Given the description of an element on the screen output the (x, y) to click on. 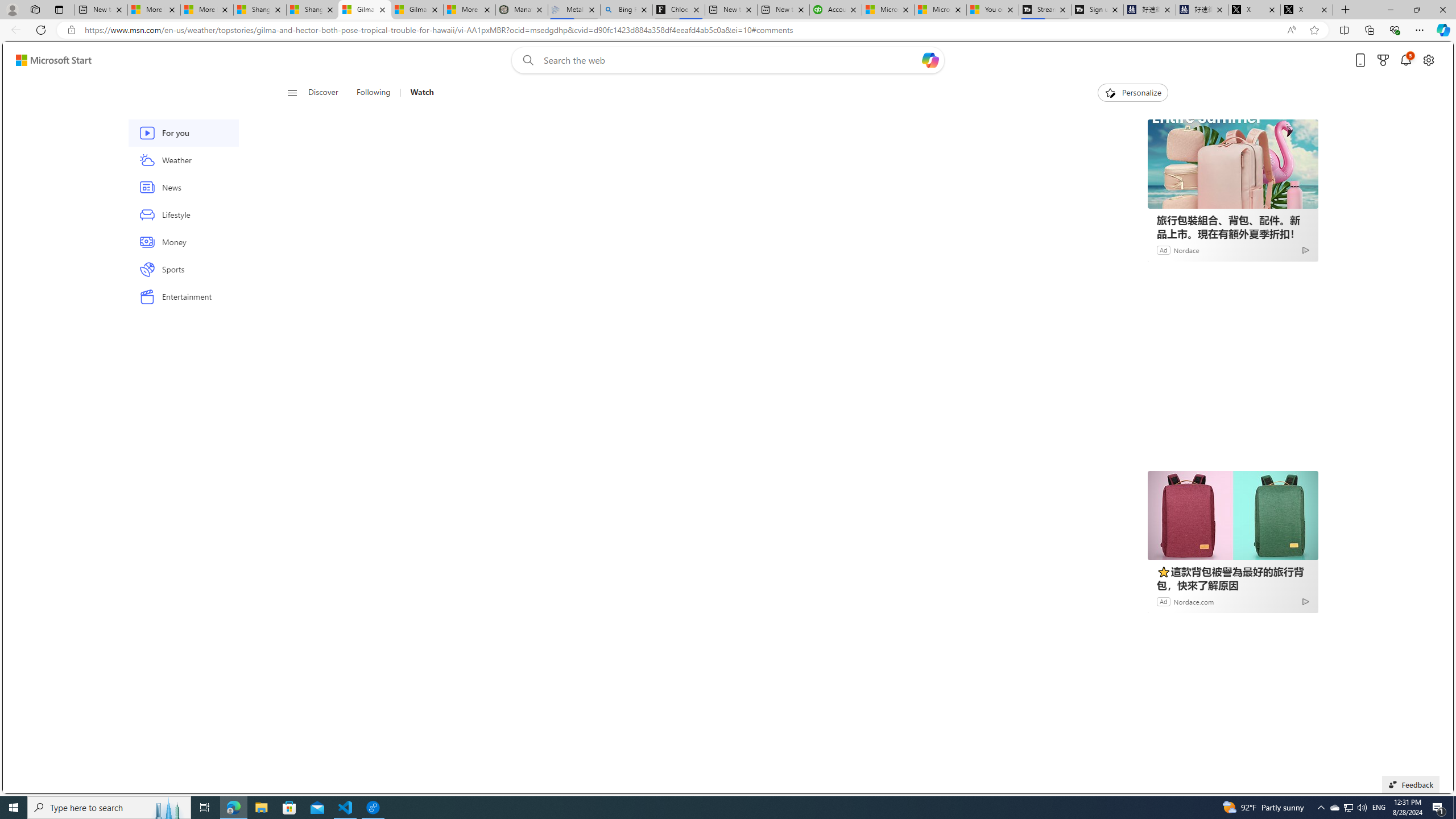
Gilma and Hector both pose tropical trouble for Hawaii (416, 9)
To get missing image descriptions, open the context menu. (1109, 92)
